Given the description of an element on the screen output the (x, y) to click on. 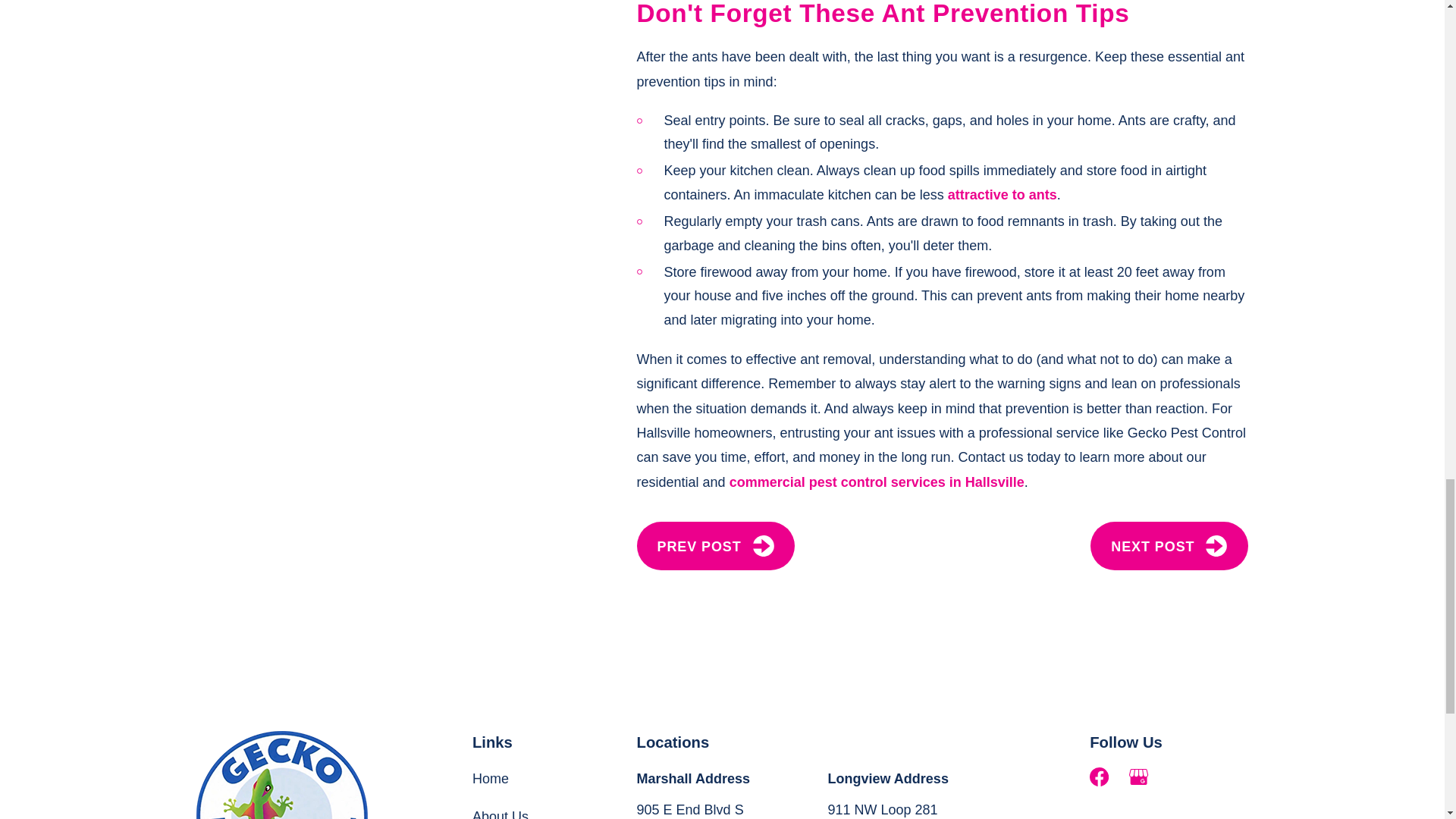
Facebook (1098, 776)
Home (282, 775)
Google Business Profile (1138, 776)
LinkedIn (1178, 776)
